Given the description of an element on the screen output the (x, y) to click on. 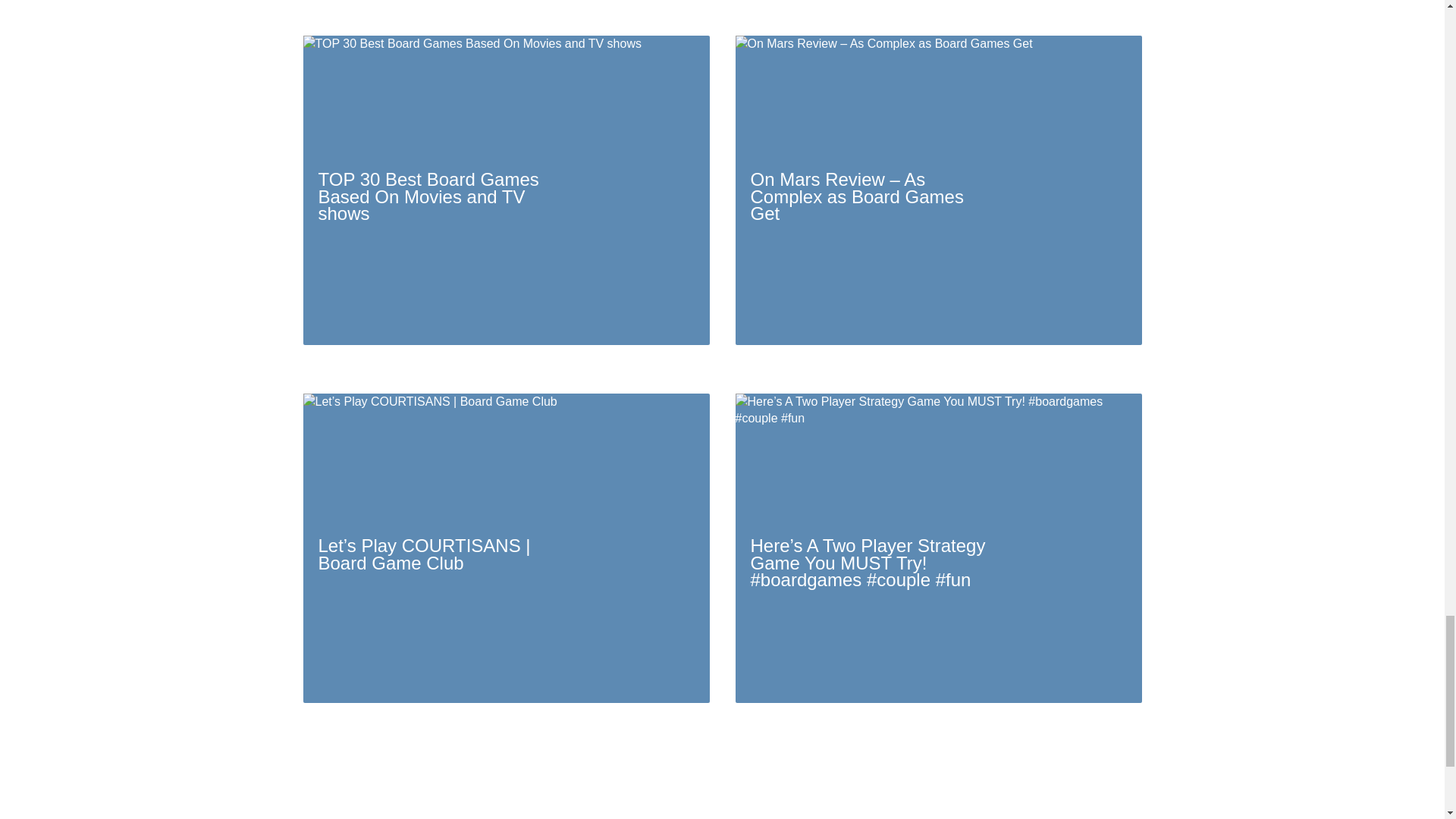
TOP 30 Best Board Games Based On Movies and TV shows (506, 190)
